Given the description of an element on the screen output the (x, y) to click on. 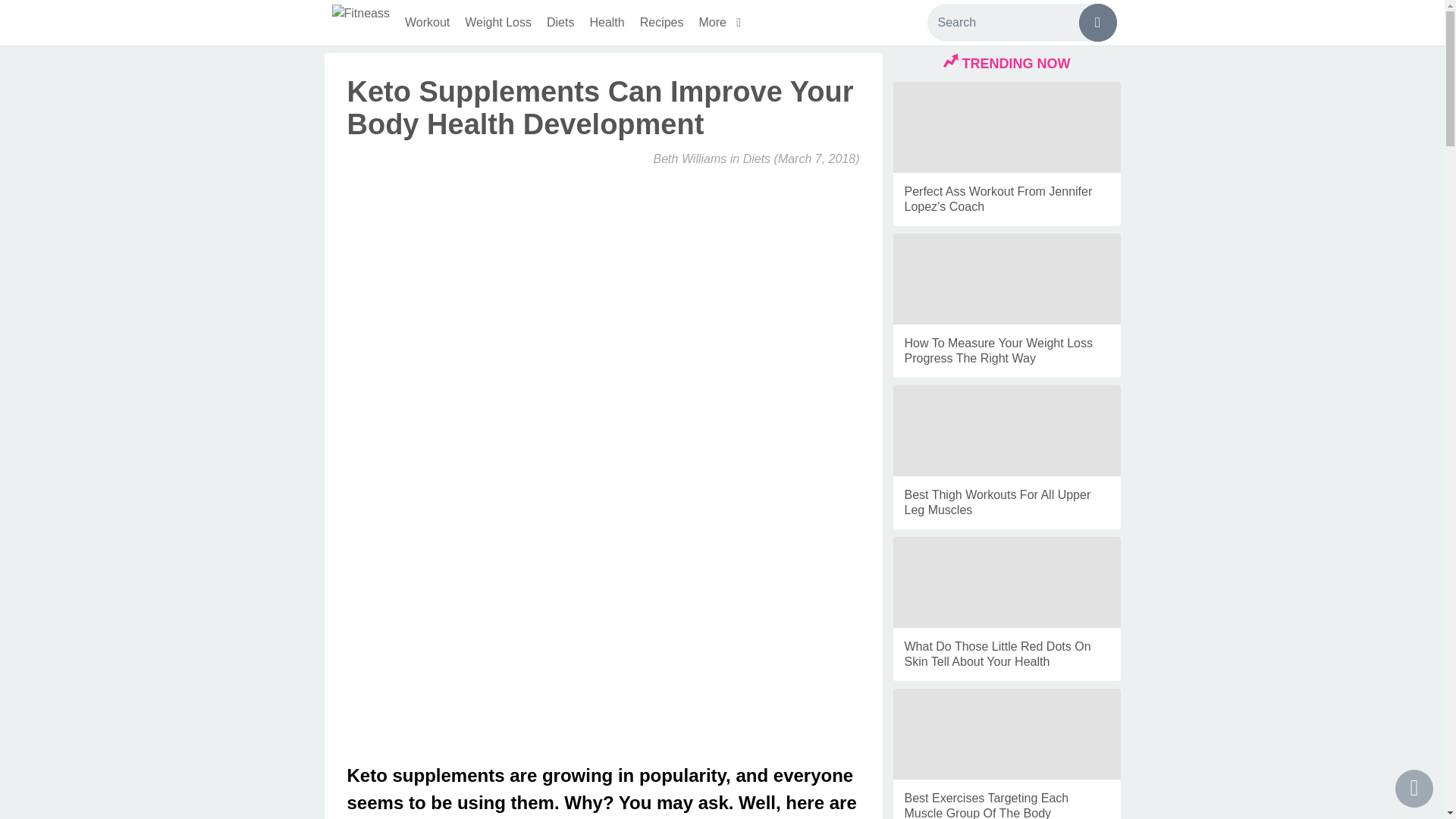
Weight Loss (497, 22)
More (723, 22)
Diets (559, 22)
Posts by Beth Williams (689, 158)
Diets (756, 158)
Workout (427, 22)
Beth Williams (689, 158)
Recipes (661, 22)
Search (1021, 22)
Health (605, 22)
